Given the description of an element on the screen output the (x, y) to click on. 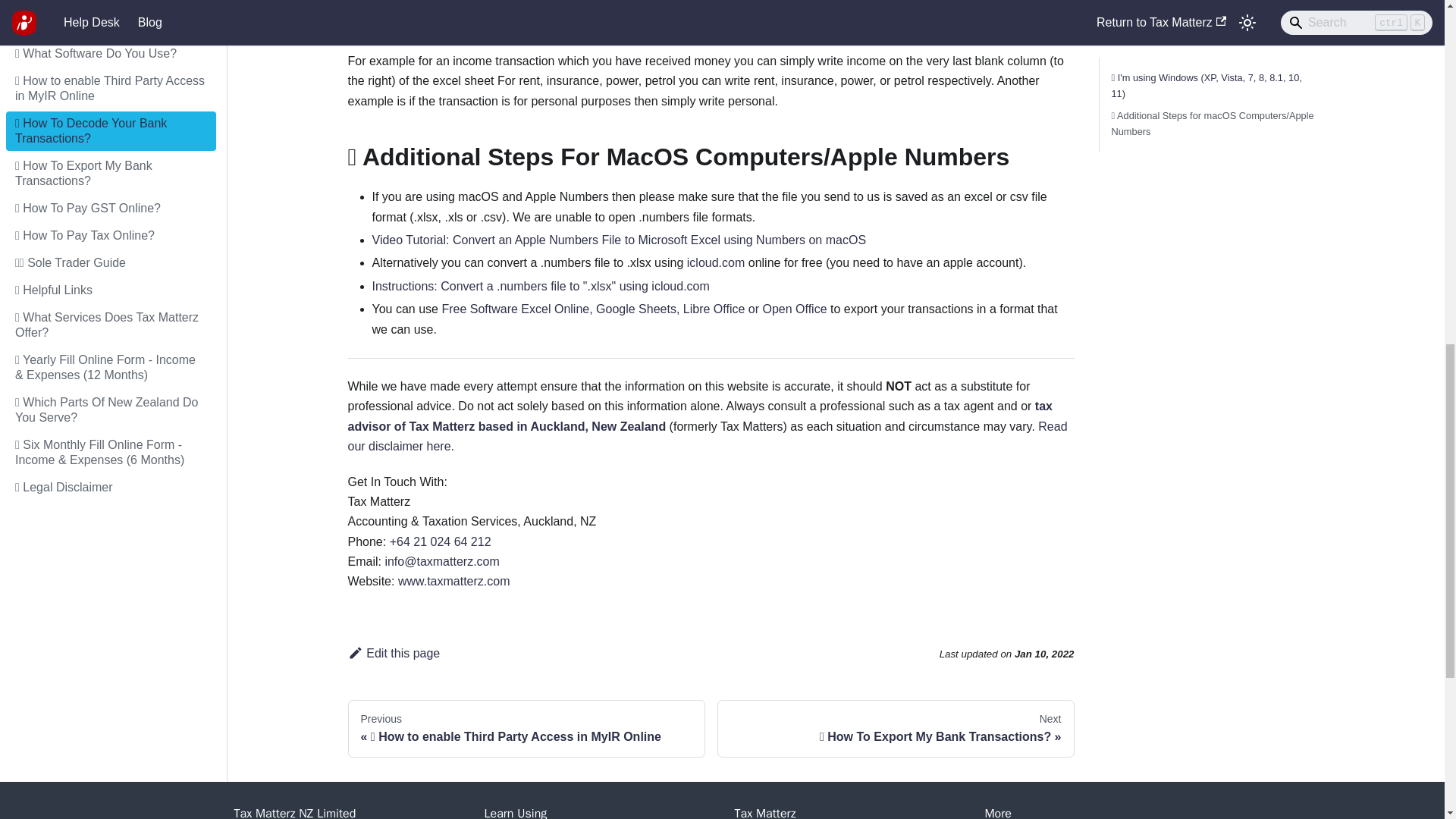
www.taxmatterz.com (454, 581)
Edit this page (393, 653)
Read our disclaimer here. (707, 436)
tax advisor of Tax Matterz based in Auckland, New Zealand (699, 415)
icloud.com (715, 262)
